Given the description of an element on the screen output the (x, y) to click on. 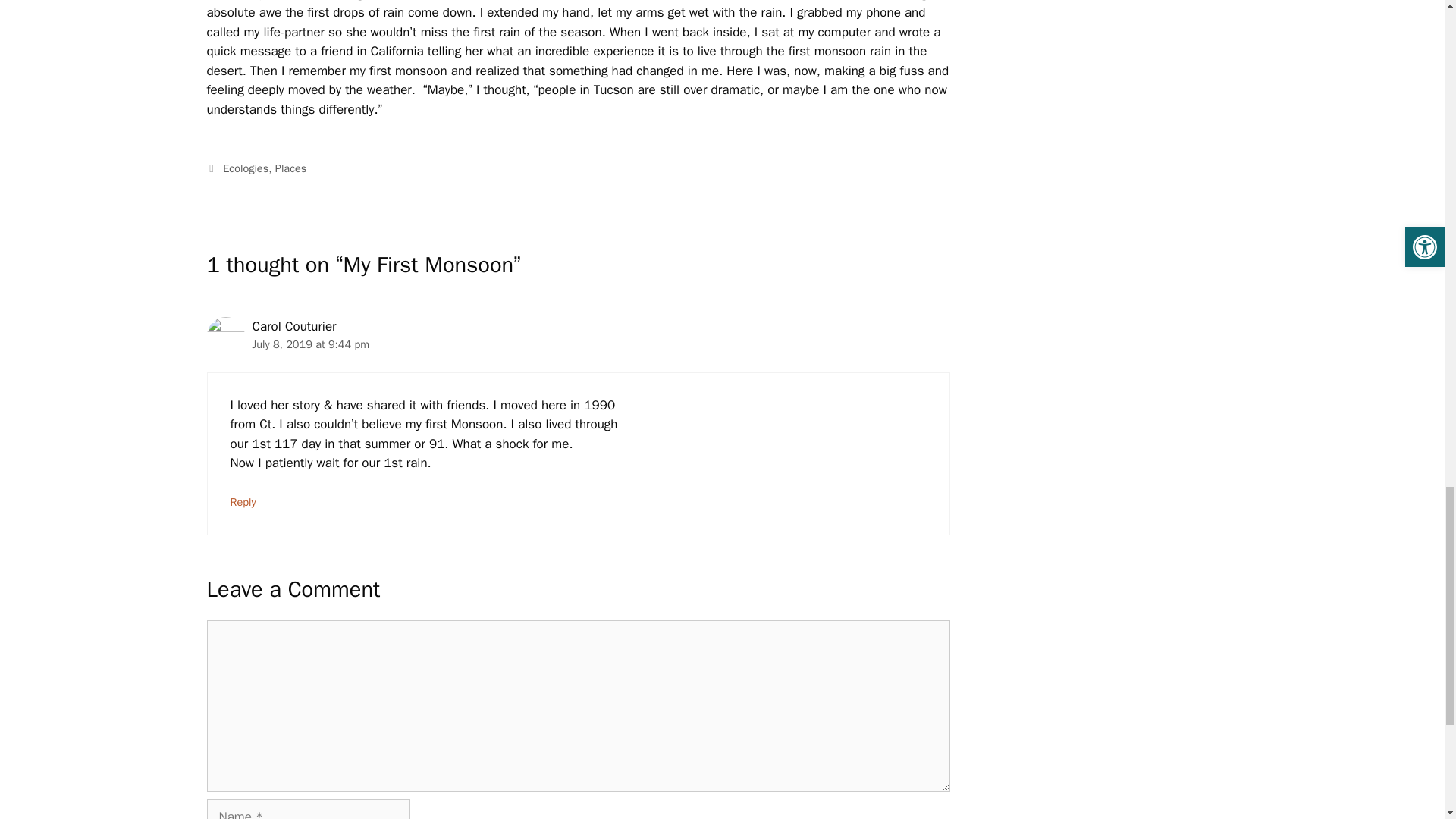
Reply (243, 501)
July 8, 2019 at 9:44 pm (310, 344)
Places (291, 168)
Ecologies (244, 168)
